Given the description of an element on the screen output the (x, y) to click on. 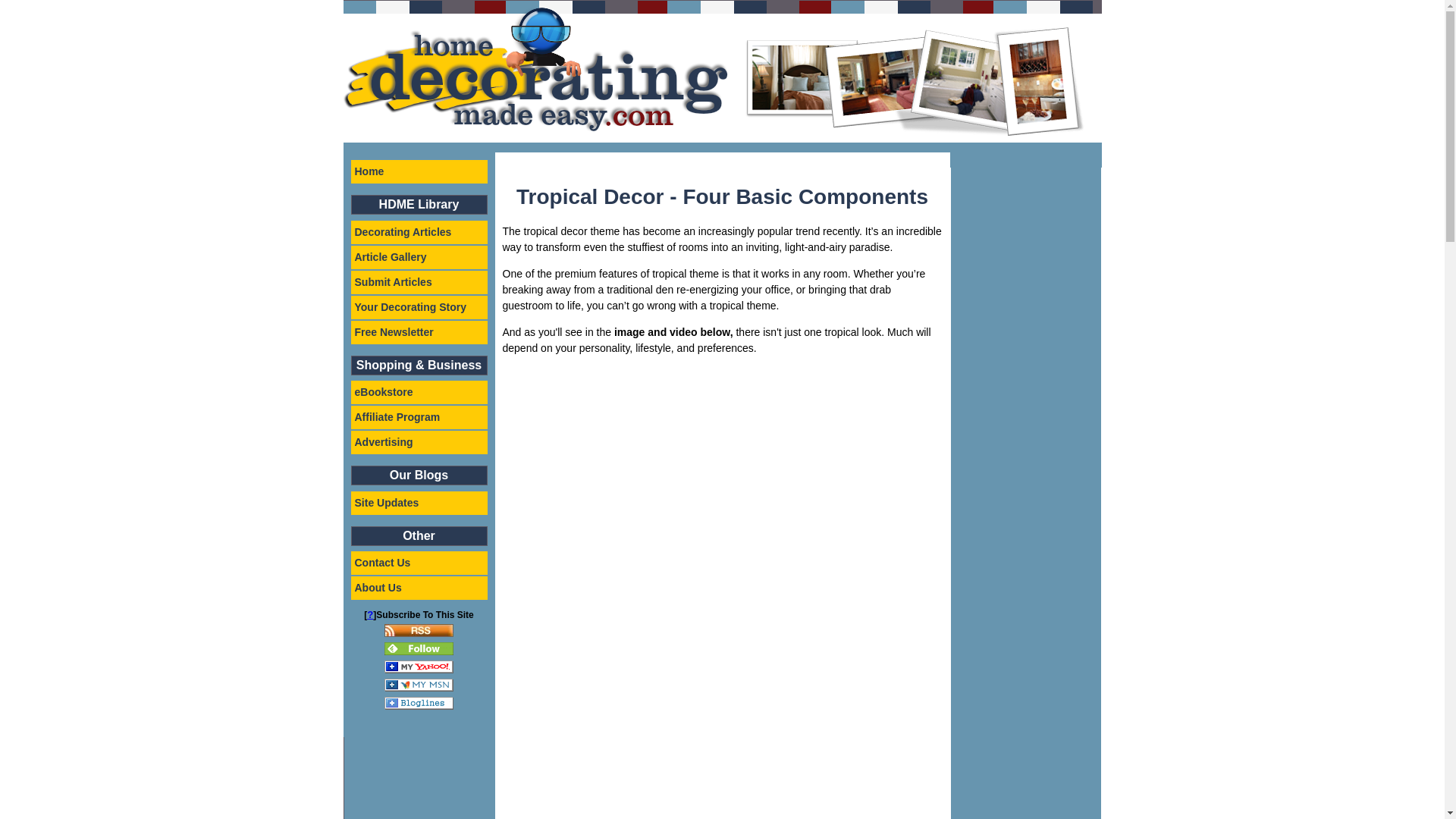
Submit Articles (418, 281)
Article Gallery (418, 257)
Site Updates (418, 503)
Contact Us (418, 562)
Decorating Articles (418, 231)
Your Decorating Story (418, 307)
eBookstore (418, 392)
Advertisement (629, 695)
Free Newsletter (418, 331)
Advertising (418, 442)
